Given the description of an element on the screen output the (x, y) to click on. 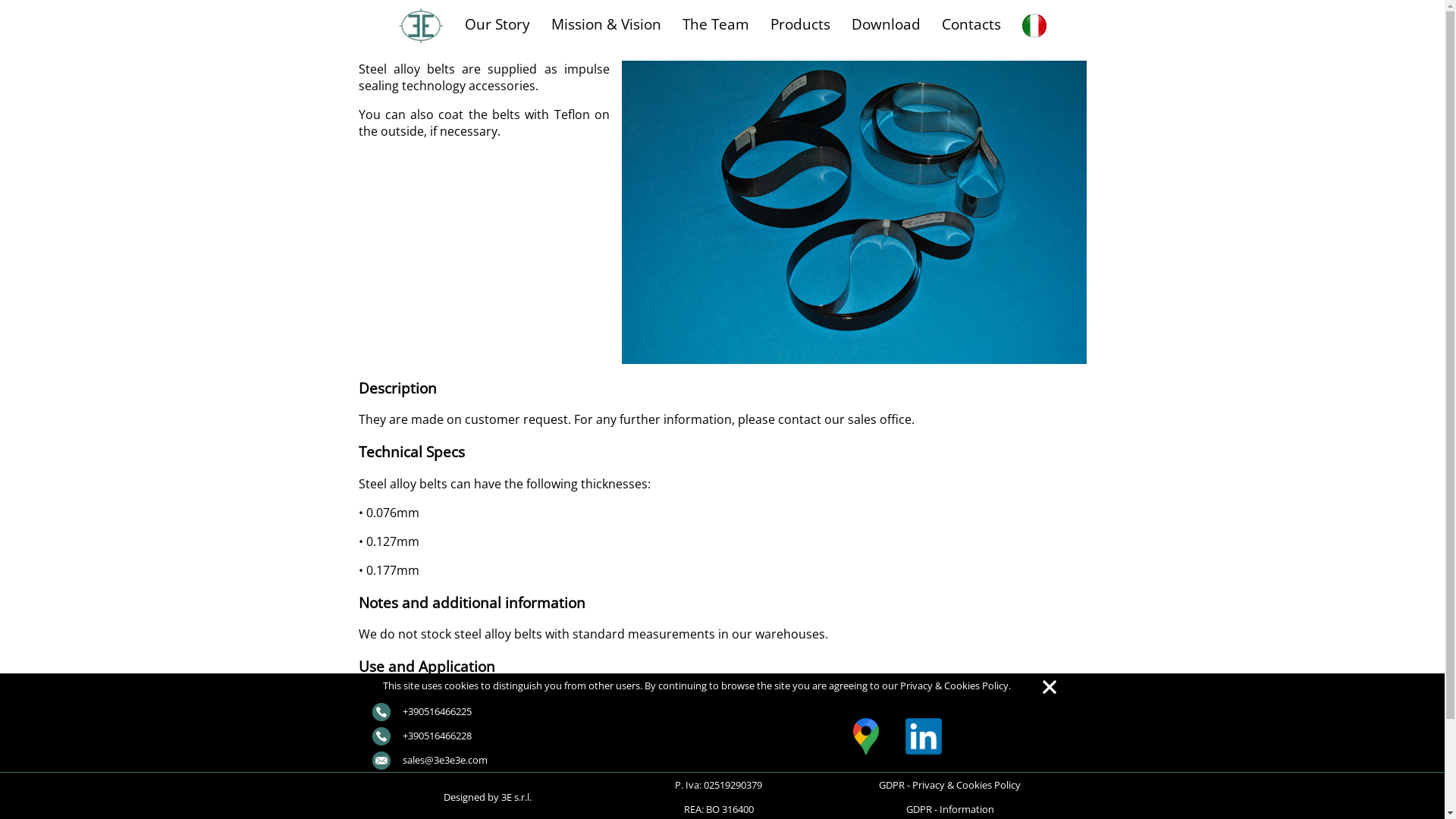
Privacy & Cookies Policy Element type: text (954, 685)
Download Element type: text (885, 23)
Our Story Element type: text (497, 23)
Mission & Vision Element type: text (606, 23)
GDPR - Information Element type: text (950, 808)
GDPR - Privacy & Cookies Policy Element type: text (949, 784)
The Team Element type: text (715, 23)
Products Element type: text (800, 23)
Contacts Element type: text (971, 23)
+390516466228 Element type: text (420, 735)
sales@3e3e3e.com Element type: text (428, 759)
+390516466225 Element type: text (420, 711)
